Given the description of an element on the screen output the (x, y) to click on. 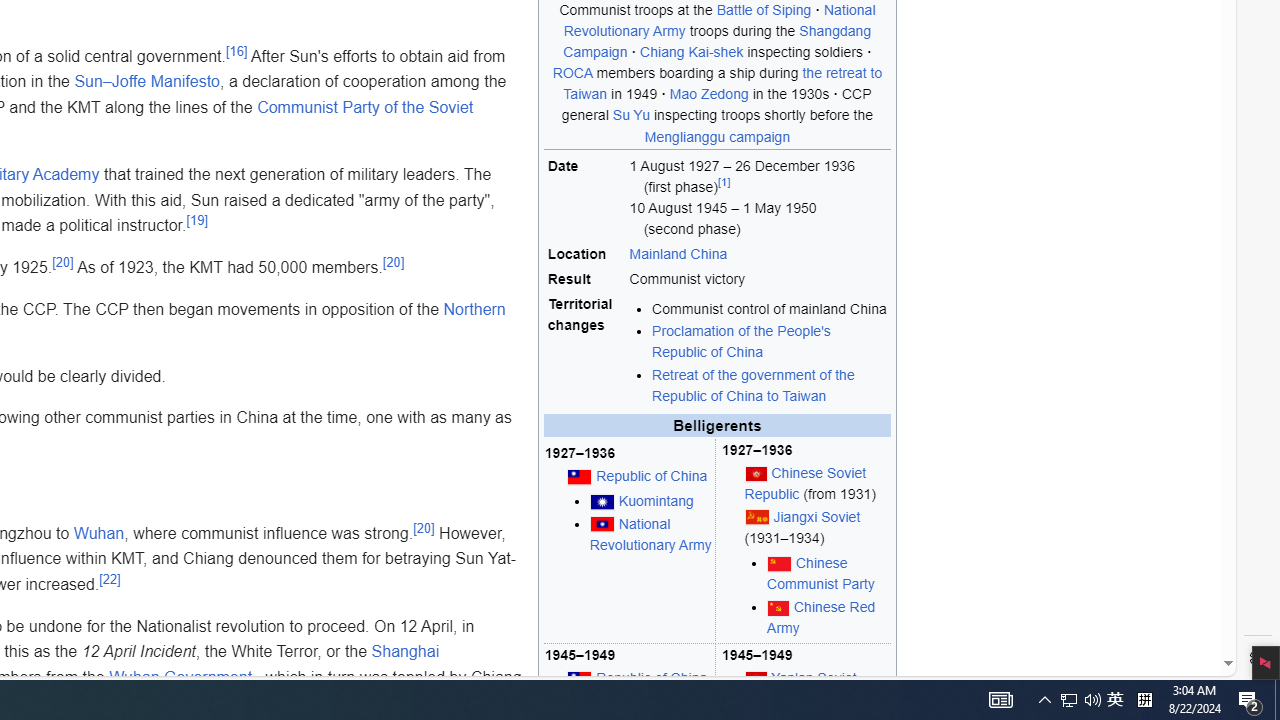
Mao Zedong (708, 93)
[19] (196, 220)
Date (586, 197)
[20] (424, 527)
Communist control of mainland China (769, 308)
[16] (236, 51)
